Given the description of an element on the screen output the (x, y) to click on. 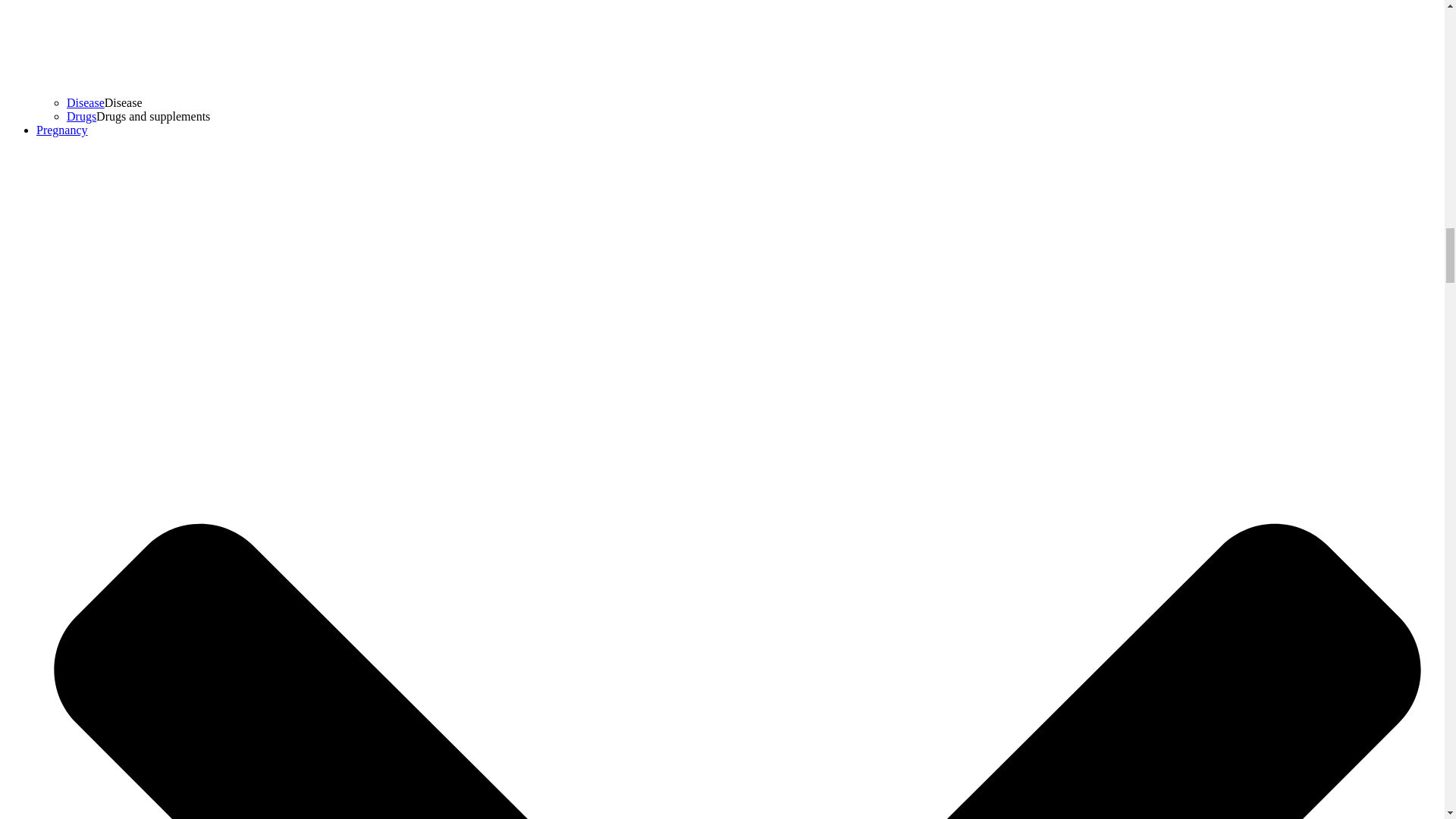
Drugs (81, 115)
Disease (85, 102)
Disease (85, 102)
Drugs (81, 115)
